Given the description of an element on the screen output the (x, y) to click on. 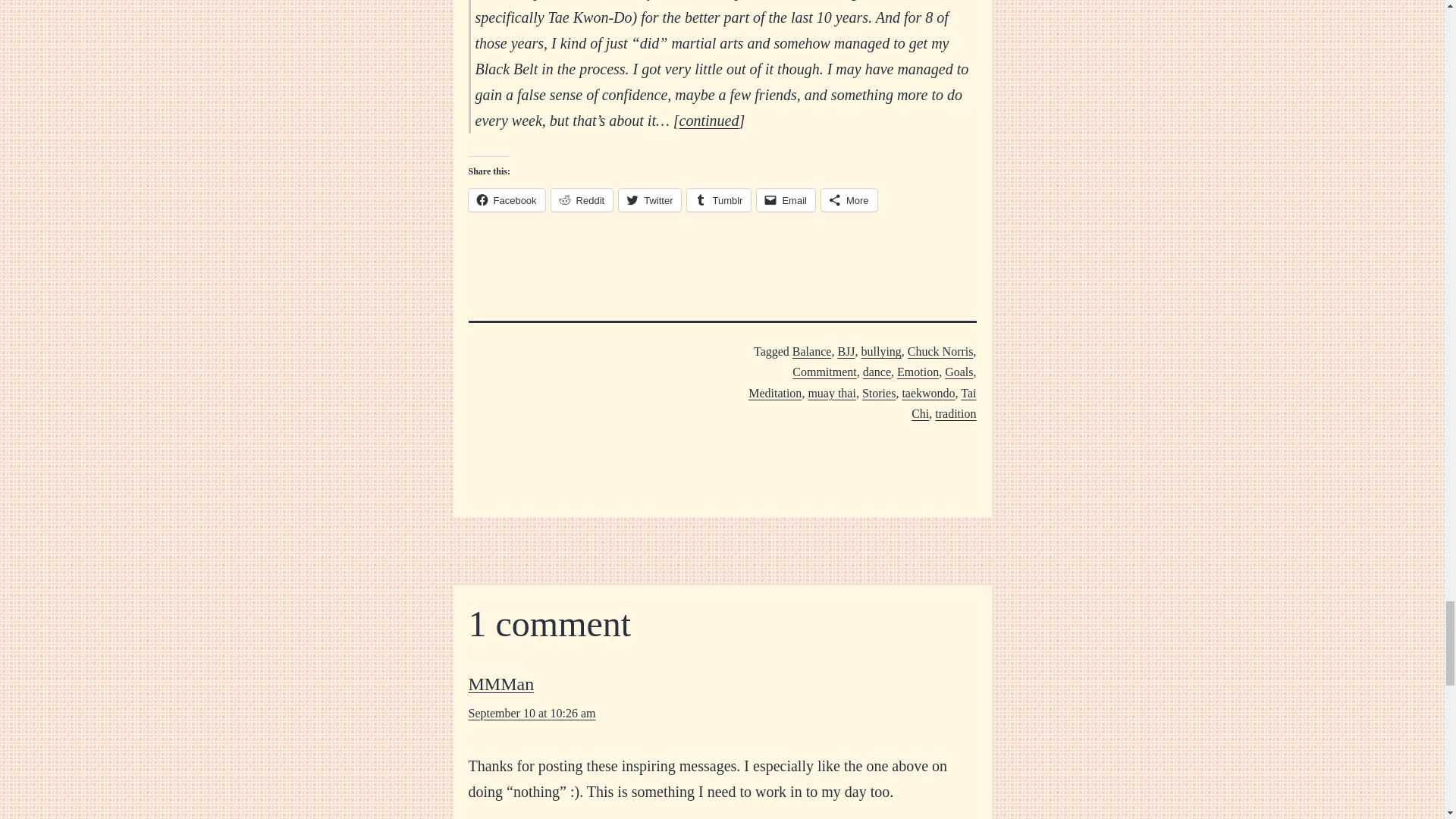
Meditation (775, 392)
Tumblr (719, 200)
Click to share on Facebook (506, 200)
Commitment (824, 371)
Reddit (581, 200)
Facebook (506, 200)
muay thai (832, 392)
Click to share on Tumblr (719, 200)
dance (877, 371)
taekwondo (928, 392)
